Given the description of an element on the screen output the (x, y) to click on. 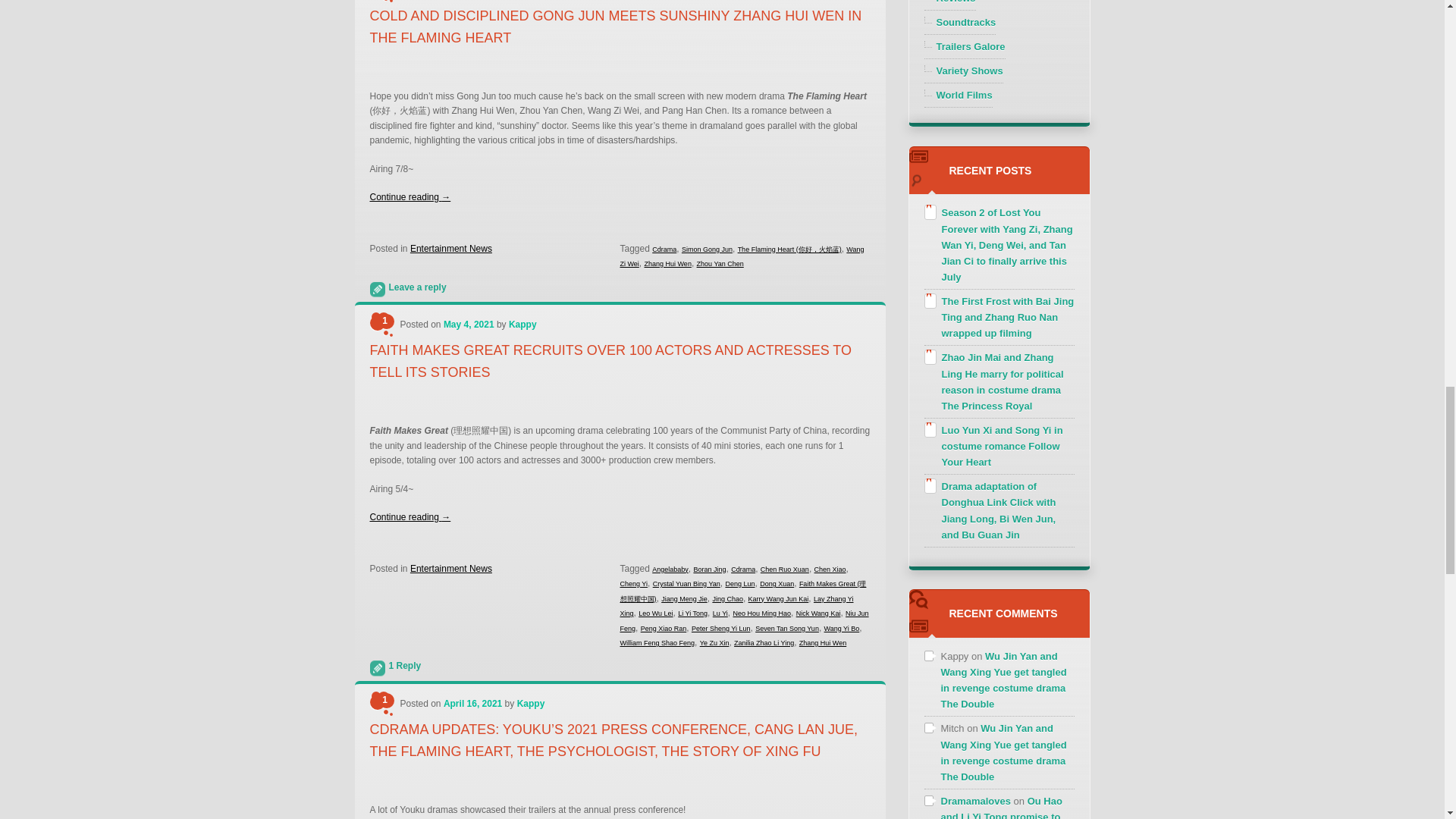
3:52 am (469, 324)
